Given the description of an element on the screen output the (x, y) to click on. 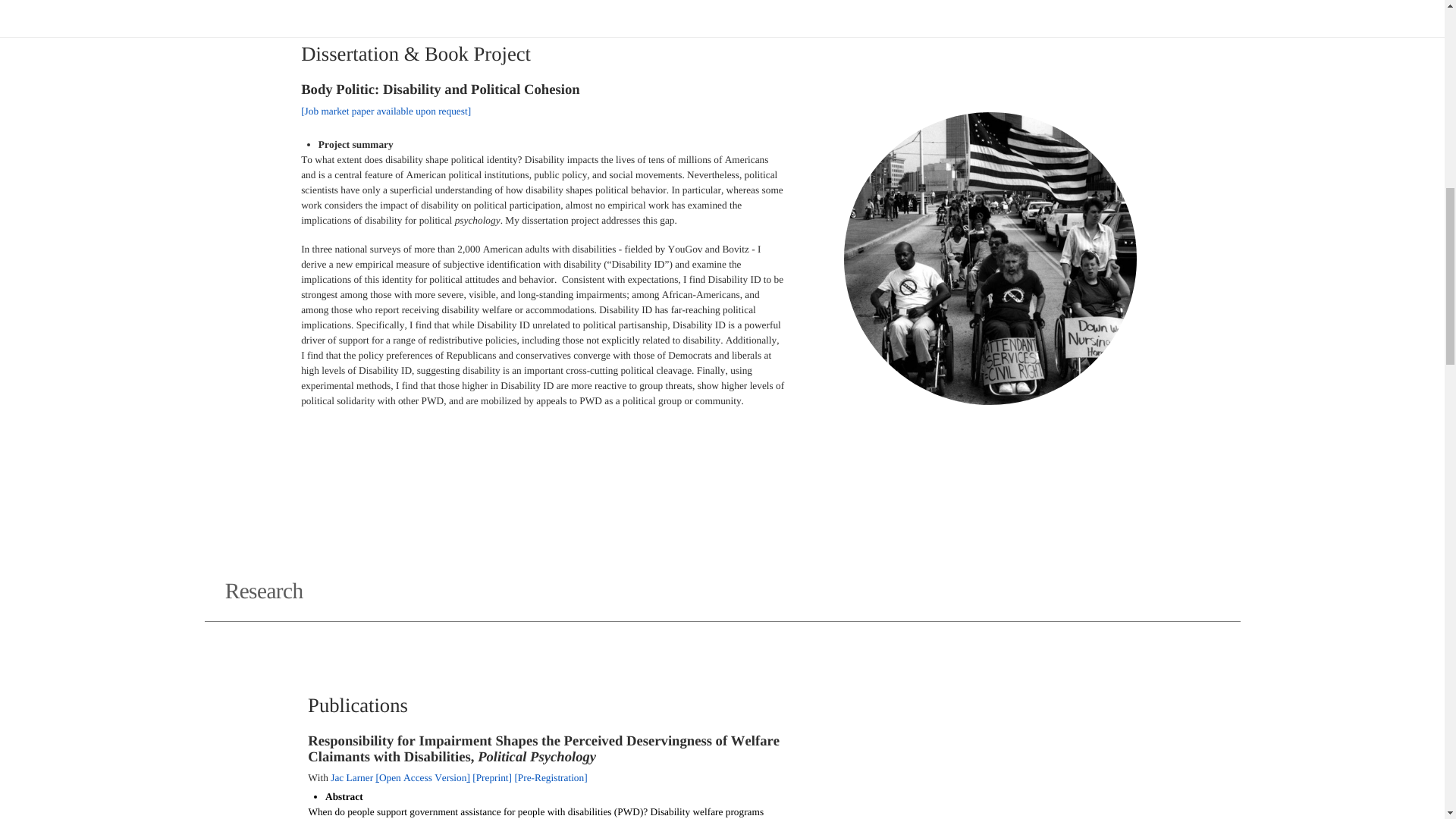
Open Access Version (421, 777)
Jac Larner (351, 777)
